Given the description of an element on the screen output the (x, y) to click on. 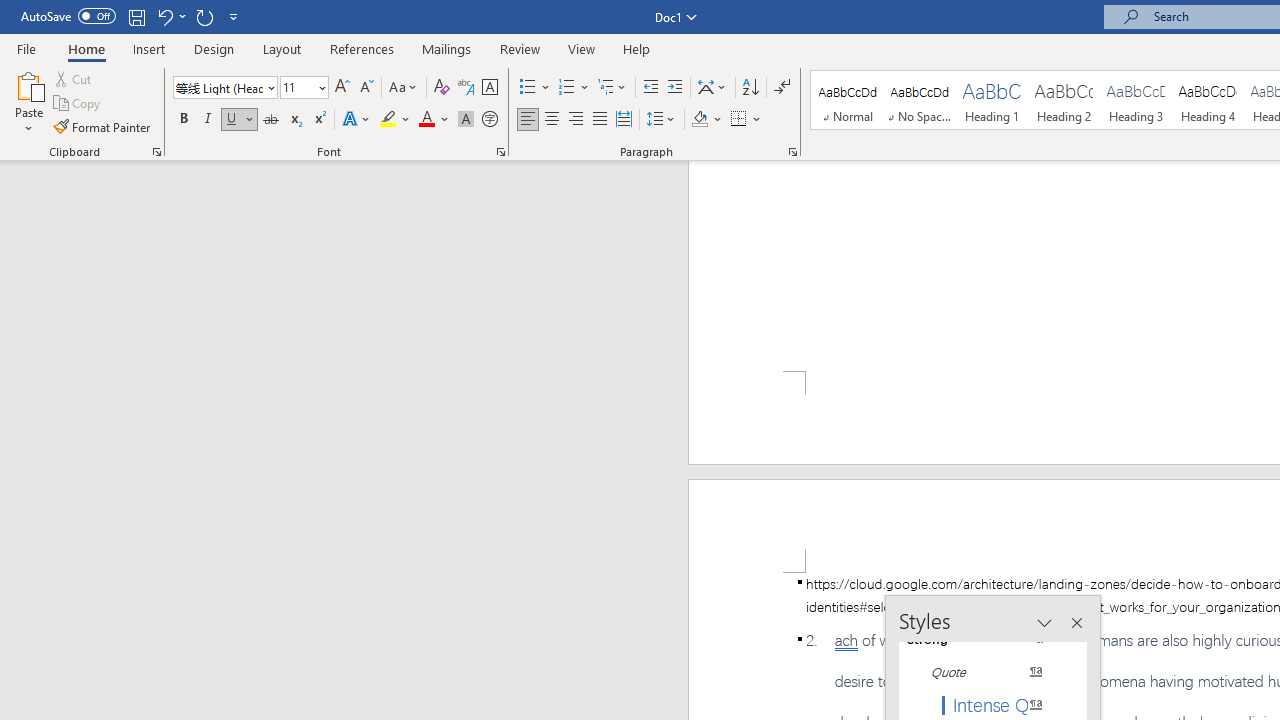
Repeat Style (204, 15)
